Given the description of an element on the screen output the (x, y) to click on. 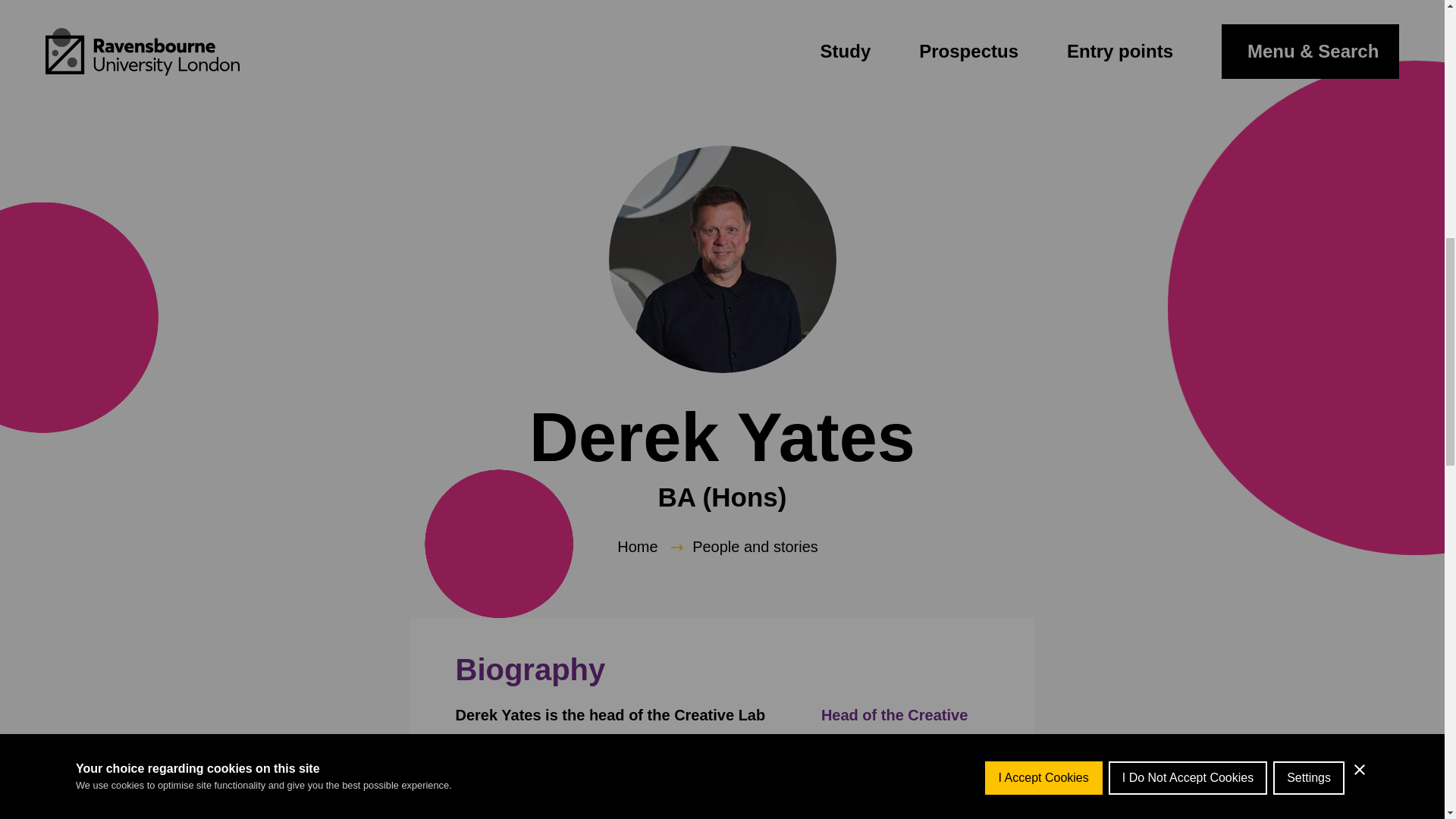
I Accept Cookies (1043, 17)
I Do Not Accept Cookies (1187, 9)
Settings (1307, 2)
